Given the description of an element on the screen output the (x, y) to click on. 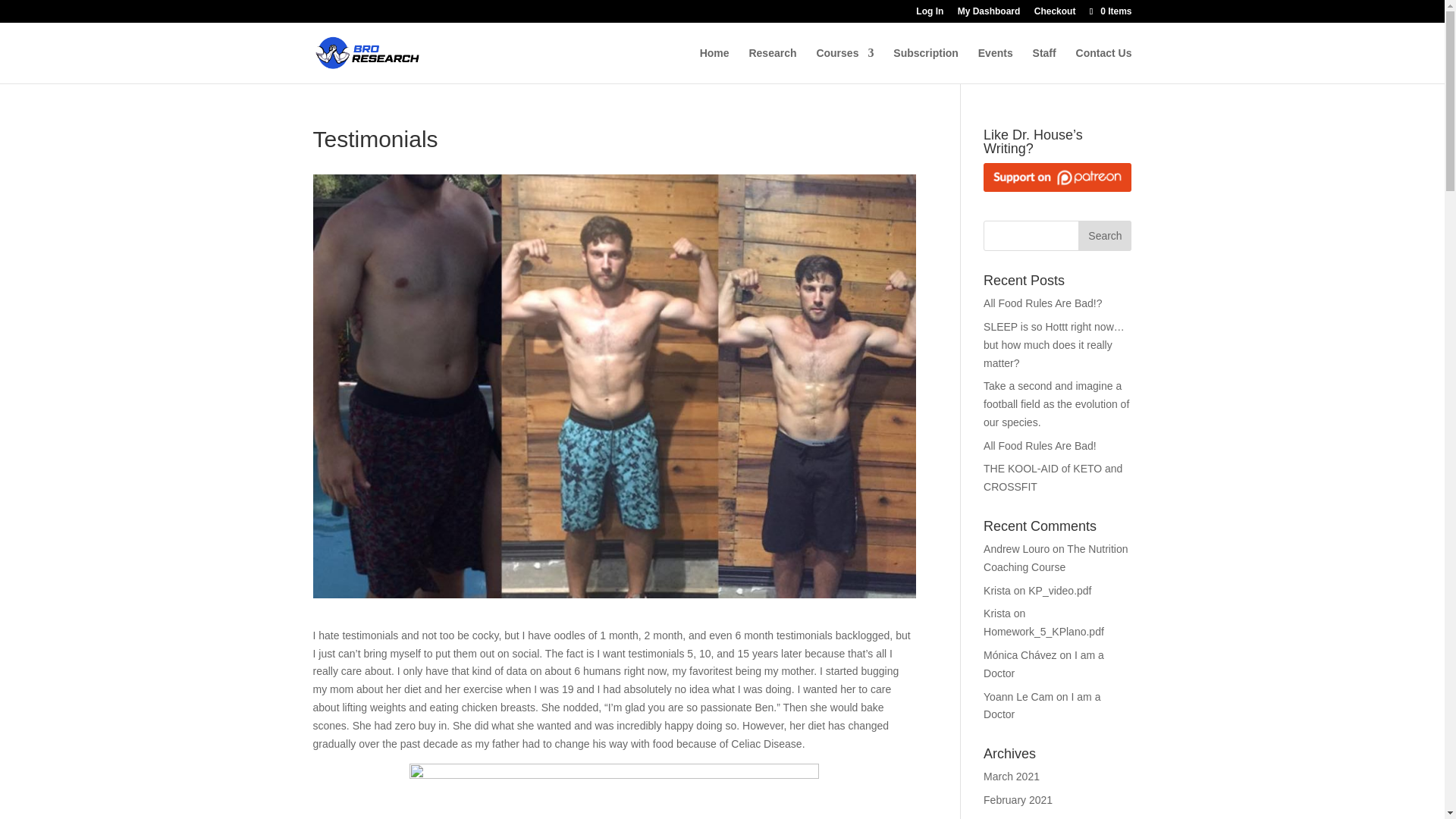
0 Items (1108, 10)
Checkout (1054, 14)
My Dashboard (989, 14)
Research (772, 65)
Search (1104, 235)
Search (1104, 235)
THE KOOL-AID of KETO and CROSSFIT (1053, 477)
Contact Us (1103, 65)
The Nutrition Coaching Course (1055, 557)
